Given the description of an element on the screen output the (x, y) to click on. 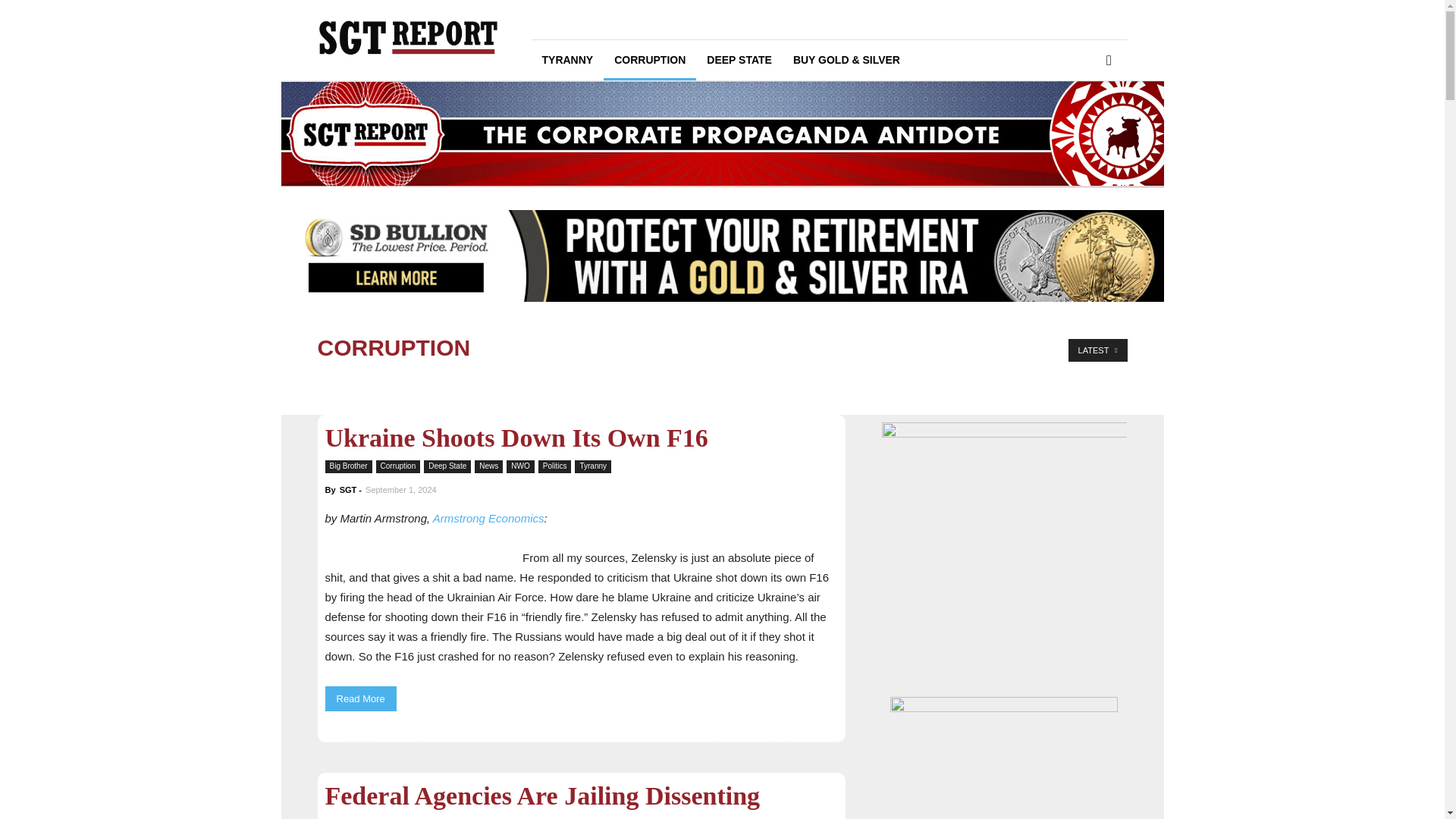
CORRUPTION (649, 60)
Big Brother (347, 466)
News (488, 466)
Search (1085, 122)
TYRANNY (567, 60)
Politics (555, 466)
NWO (520, 466)
SGT (347, 489)
DEEP STATE (739, 60)
Deep State (446, 466)
